Given the description of an element on the screen output the (x, y) to click on. 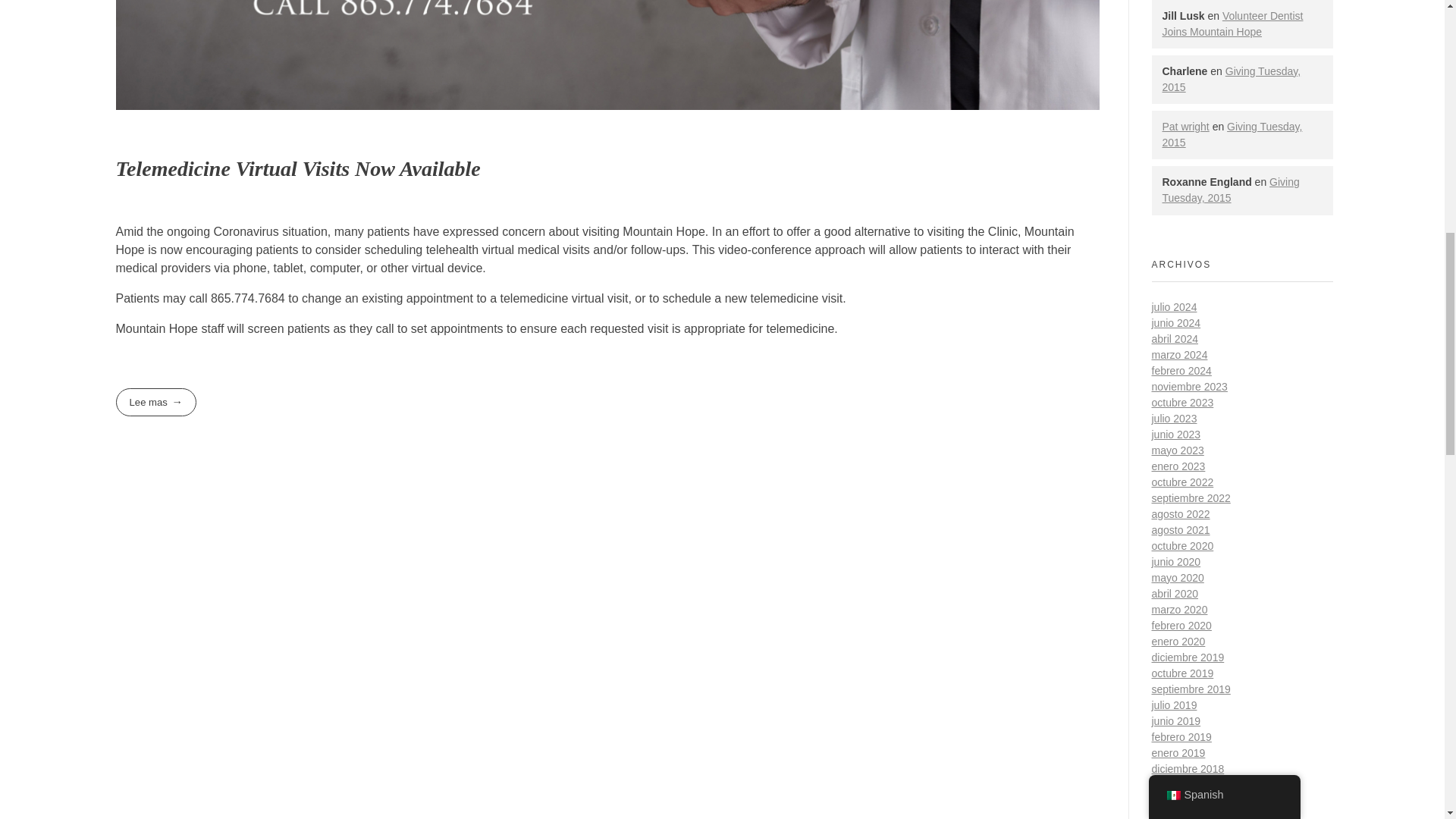
Telemedicine Virtual Visits Now Available (297, 168)
Lee mas (155, 402)
